Given the description of an element on the screen output the (x, y) to click on. 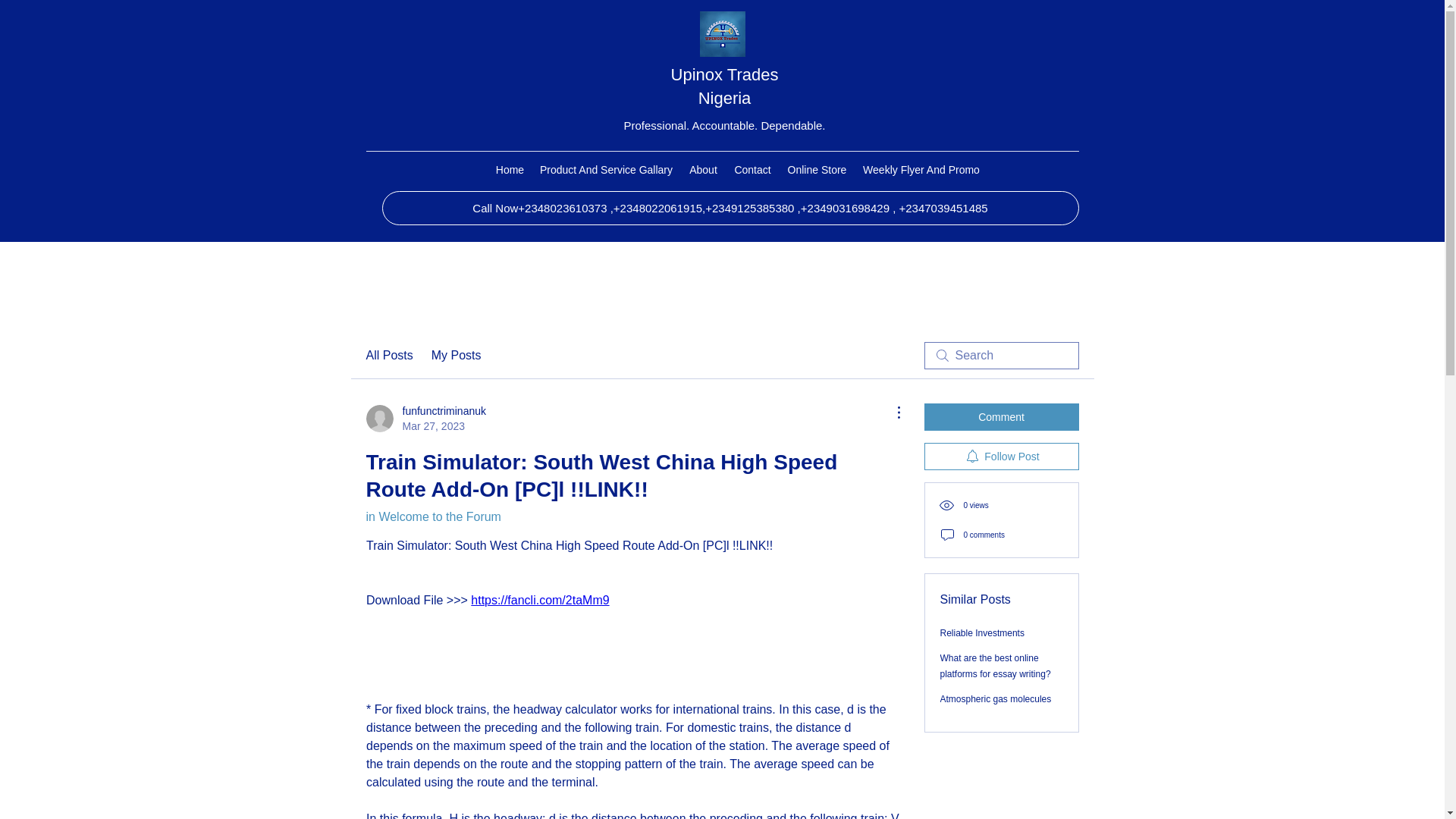
Contact (752, 169)
About (703, 169)
All Posts (388, 355)
Product And Service Gallary (606, 169)
Atmospheric gas molecules (425, 418)
Home (995, 698)
Upinox Trades Nigeria (509, 169)
Comment (724, 86)
Weekly Flyer And Promo (1000, 416)
Reliable Investments (922, 169)
Online Store (982, 633)
My Posts (817, 169)
Follow Post (455, 355)
What are the best online platforms for essay writing? (1000, 456)
